Given the description of an element on the screen output the (x, y) to click on. 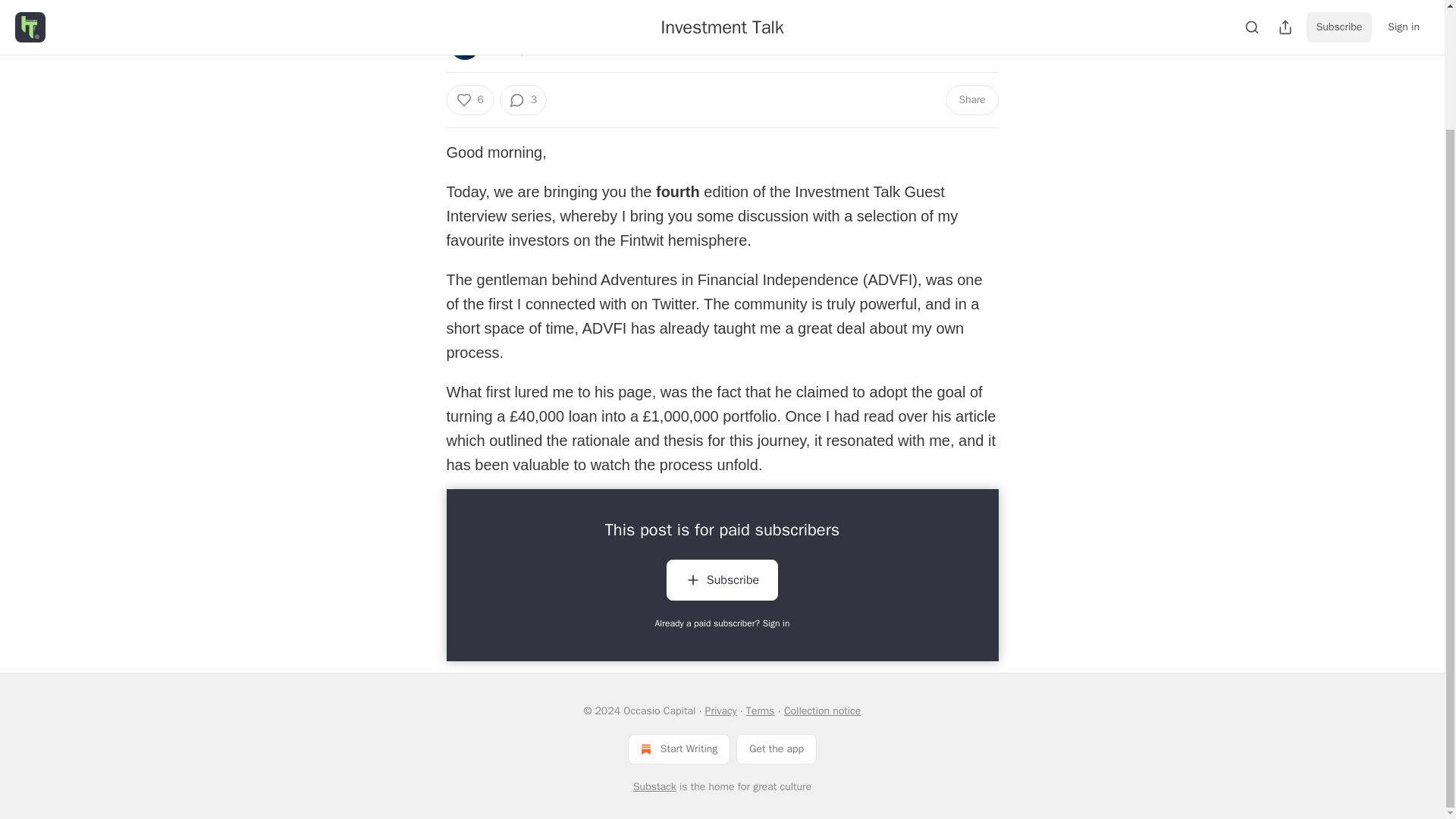
Privacy (720, 710)
CONOR MAC (515, 36)
Collection notice (822, 710)
3 (523, 100)
Subscribe (721, 582)
Subscribe (721, 579)
Get the app (776, 748)
Start Writing (678, 748)
Substack (655, 786)
6 (469, 100)
